Given the description of an element on the screen output the (x, y) to click on. 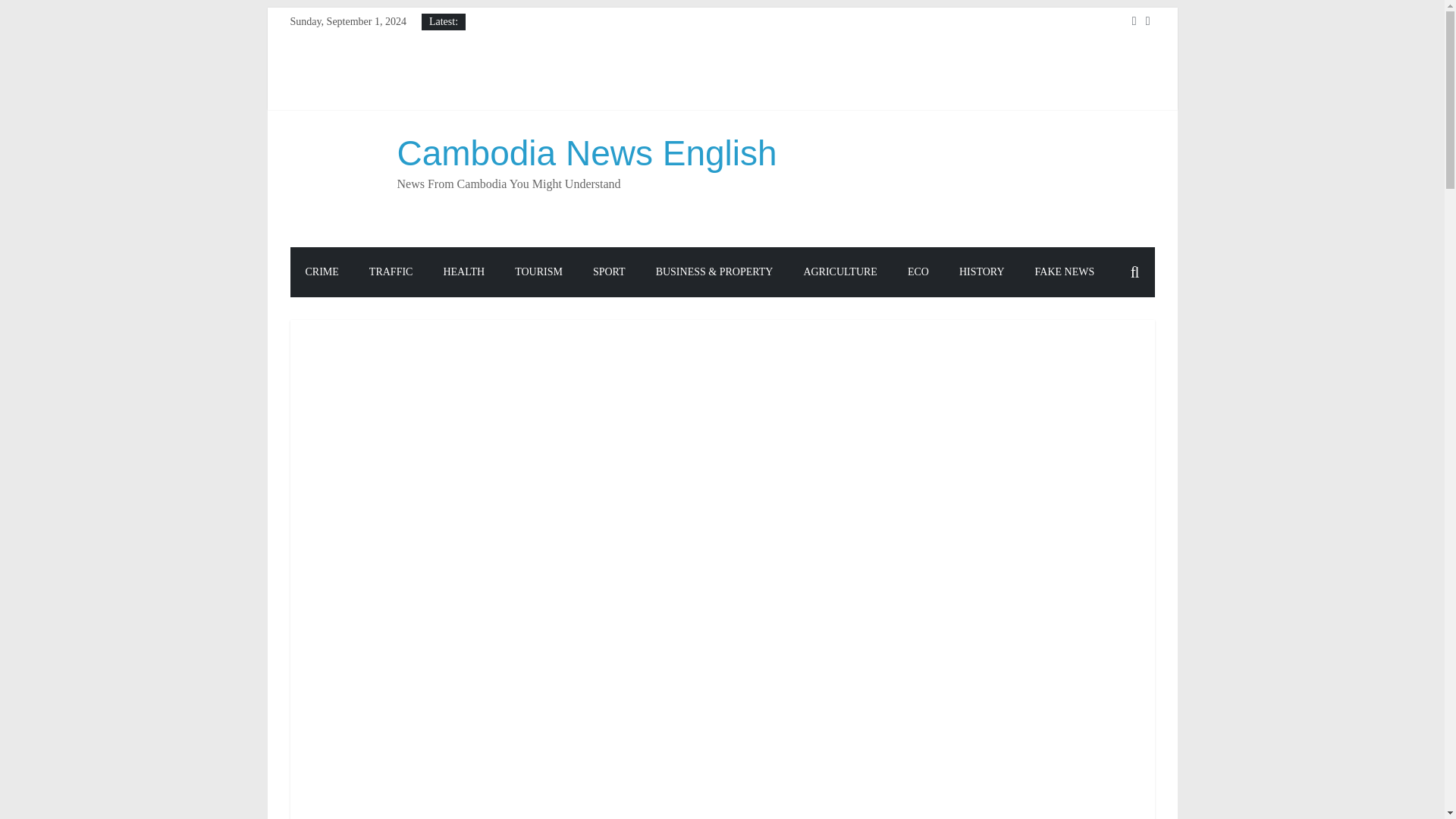
SPORT (609, 272)
Cambodia News English (587, 152)
ECO (917, 272)
TOURISM (538, 272)
FAKE NEWS (1064, 272)
TRAFFIC (390, 272)
CRIME (321, 272)
HISTORY (981, 272)
AGRICULTURE (839, 272)
